Given the description of an element on the screen output the (x, y) to click on. 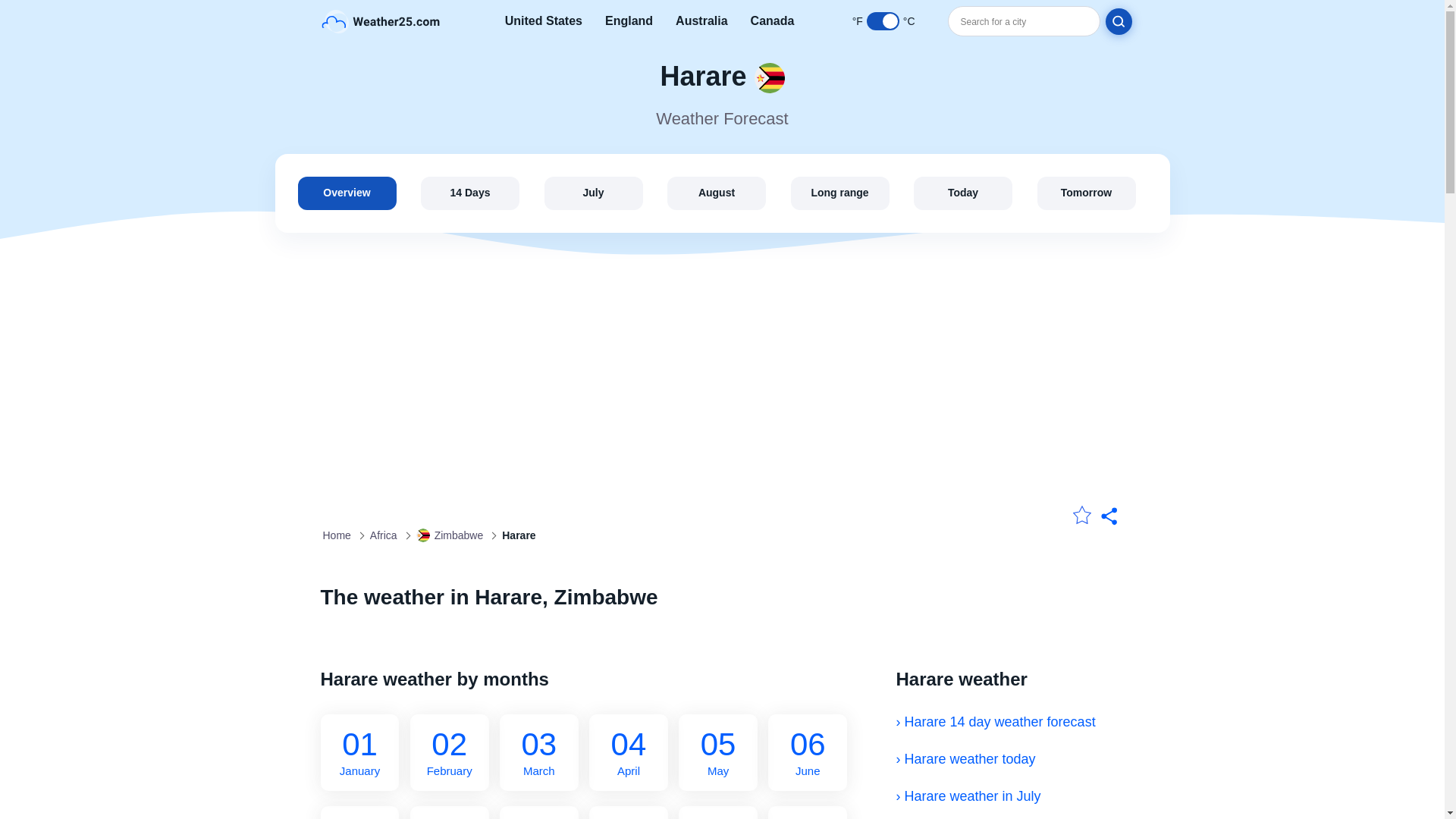
Harare weather in June (628, 752)
Advertisement (807, 752)
Tomorrow (700, 20)
Today (1085, 192)
Long range (962, 192)
August (359, 752)
Share (839, 192)
weather in Zimbabwe (538, 752)
Harare weather in February (715, 192)
Harare (1109, 517)
Weather in United States (422, 535)
